Given the description of an element on the screen output the (x, y) to click on. 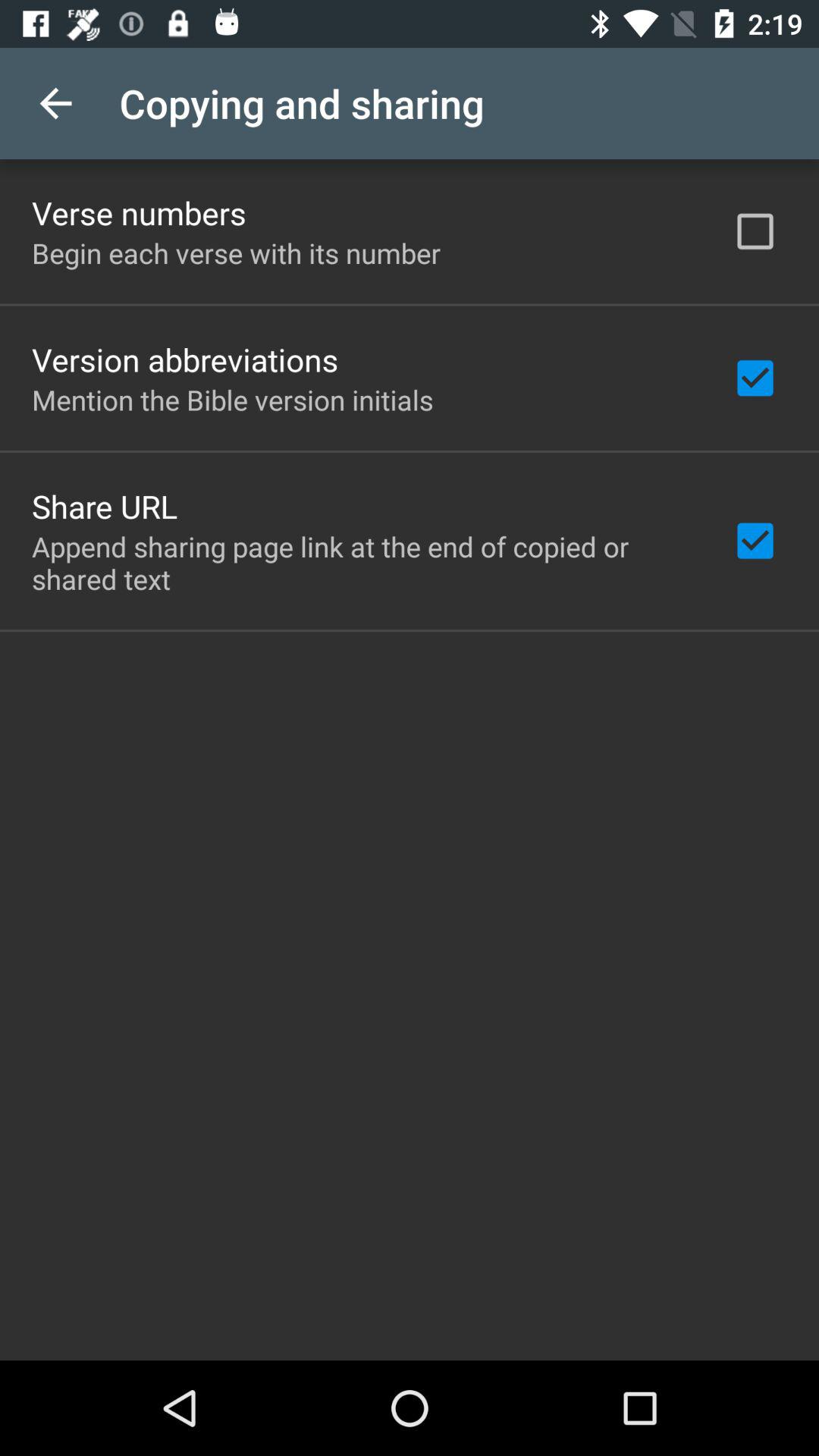
open the append sharing page icon (361, 562)
